Given the description of an element on the screen output the (x, y) to click on. 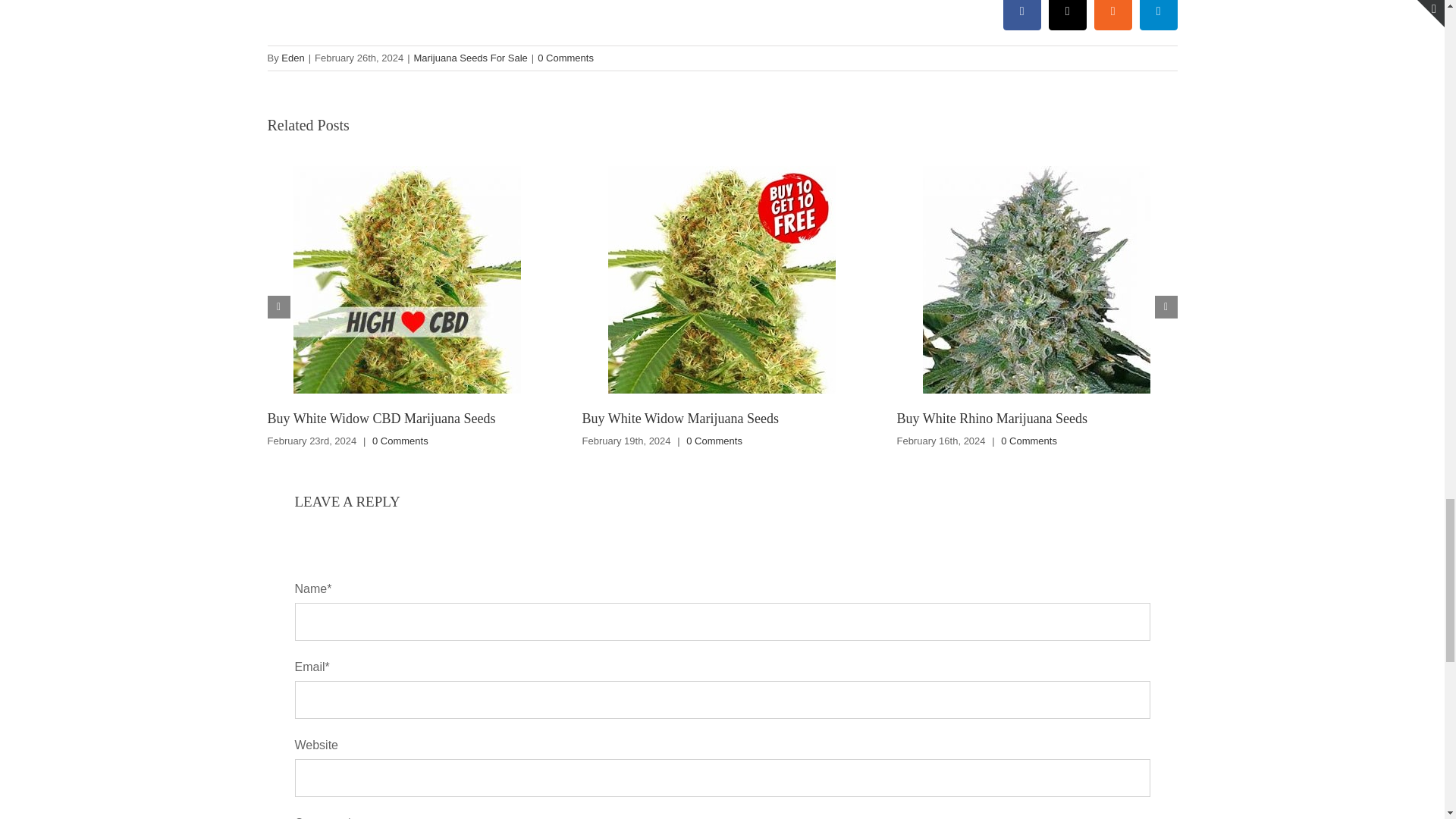
Buy White Widow CBD Marijuana Seeds (380, 418)
Buy White Widow Marijuana Seeds (679, 418)
0 Comments (1029, 440)
Marijuana Seeds For Sale (470, 57)
0 Comments (713, 440)
0 Comments (565, 57)
Eden (292, 57)
Buy White Rhino Marijuana Seeds (991, 418)
0 Comments (400, 440)
